Given the description of an element on the screen output the (x, y) to click on. 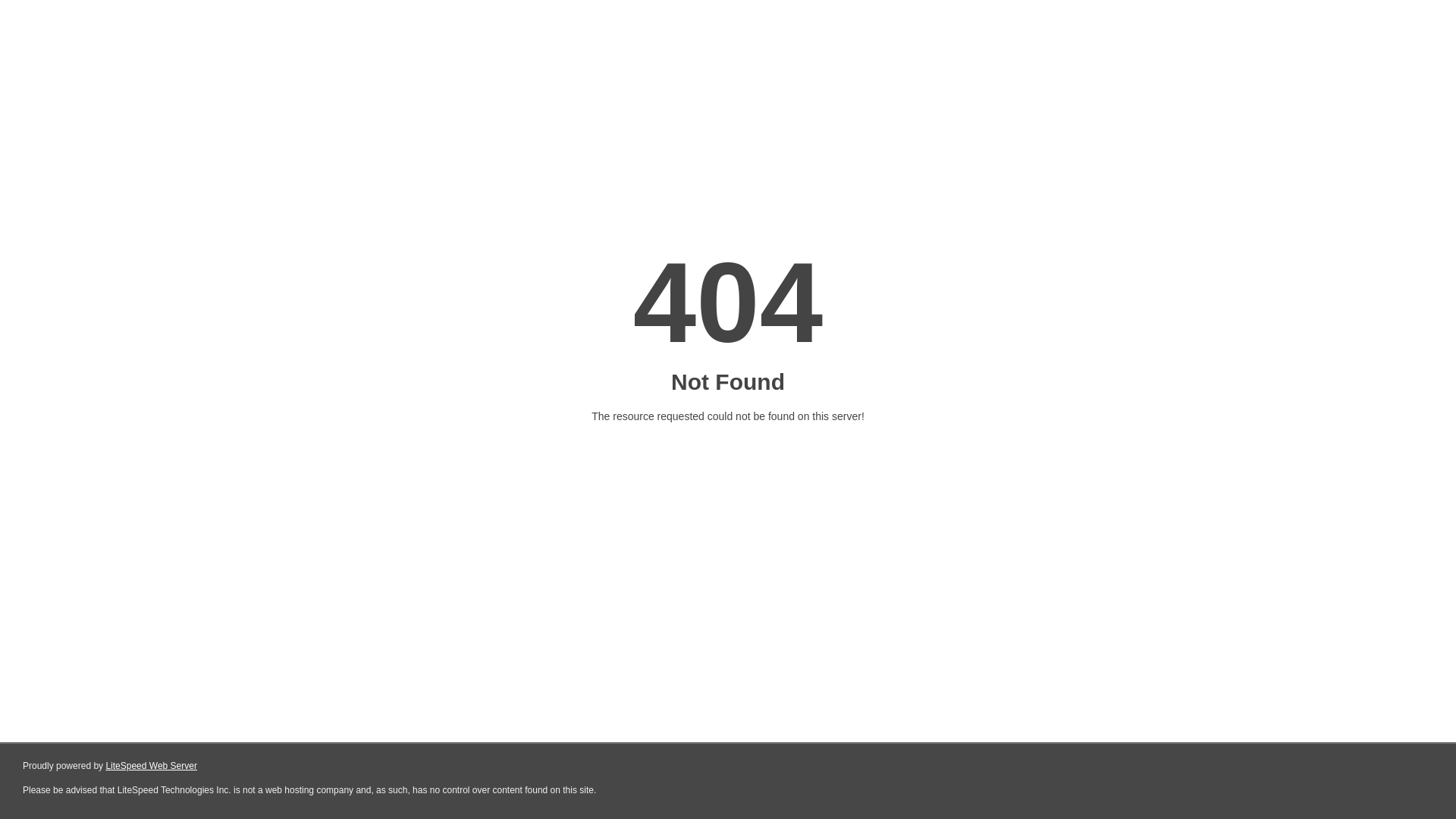
LiteSpeed Web Server Element type: text (151, 765)
